Given the description of an element on the screen output the (x, y) to click on. 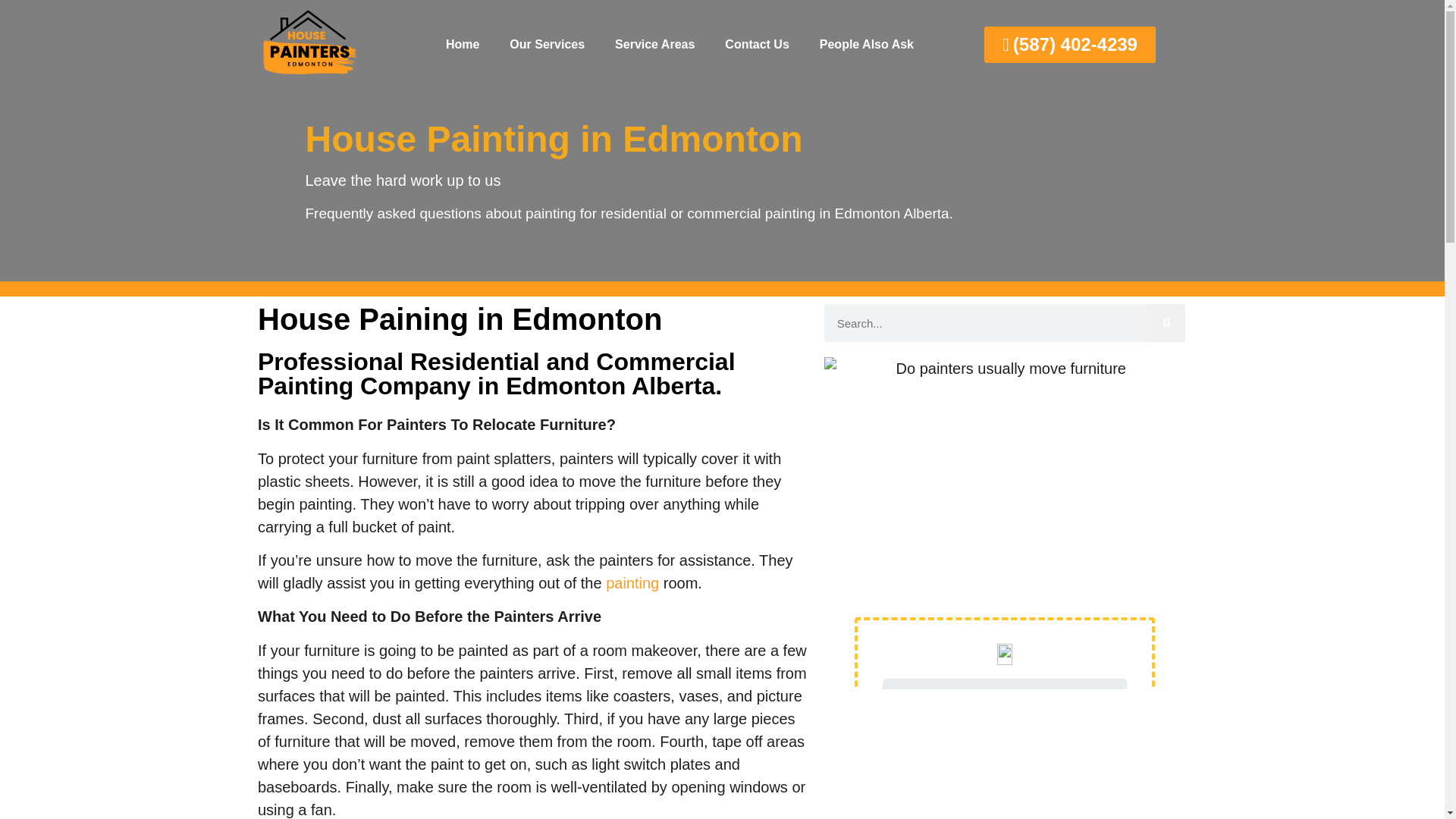
Our Services (547, 44)
Home (462, 44)
painting (632, 582)
People Also Ask (866, 44)
Contact Us (756, 44)
Service Areas (654, 44)
